Given the description of an element on the screen output the (x, y) to click on. 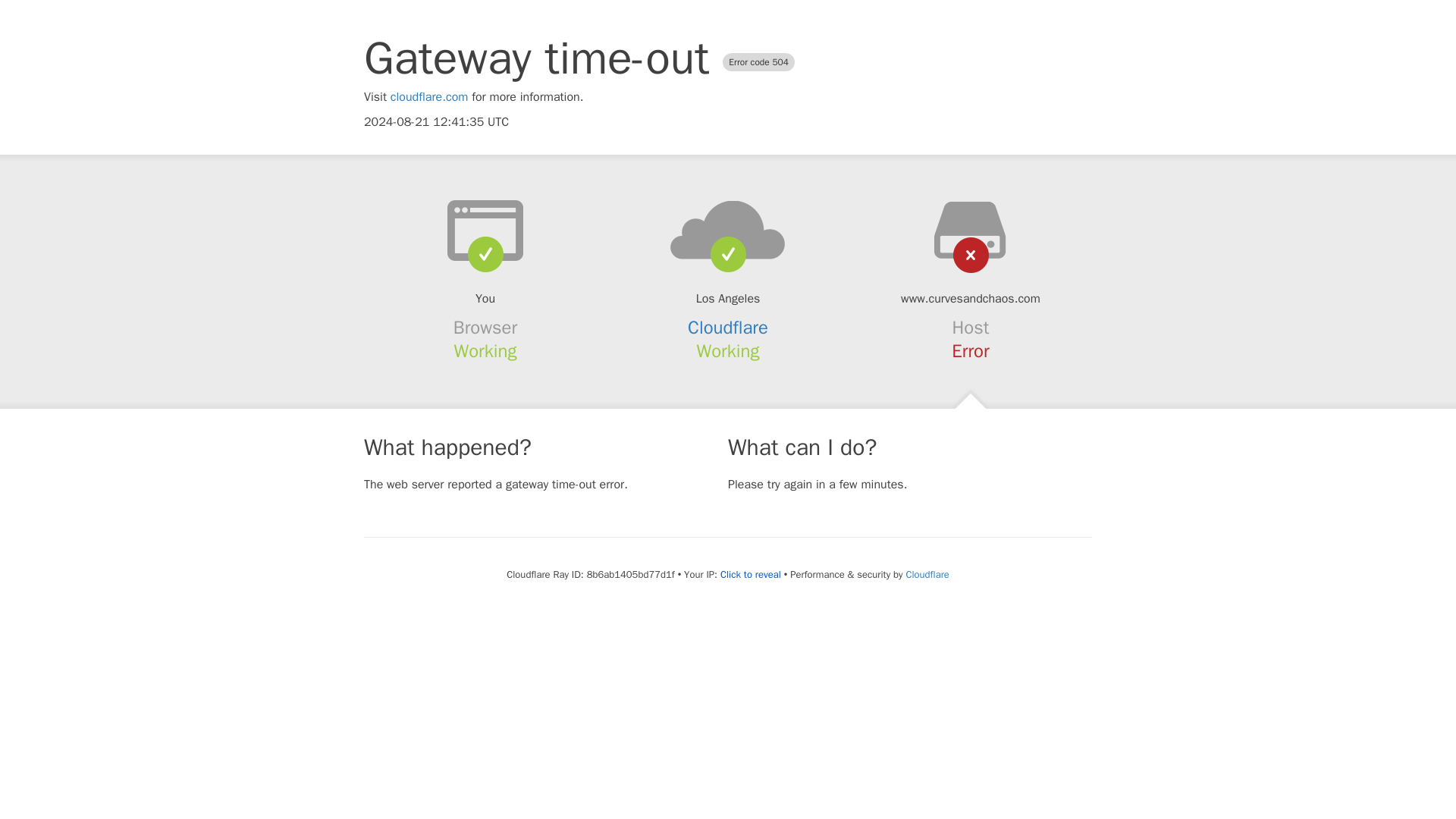
Click to reveal (750, 574)
Cloudflare (727, 327)
cloudflare.com (429, 96)
Cloudflare (927, 574)
